Given the description of an element on the screen output the (x, y) to click on. 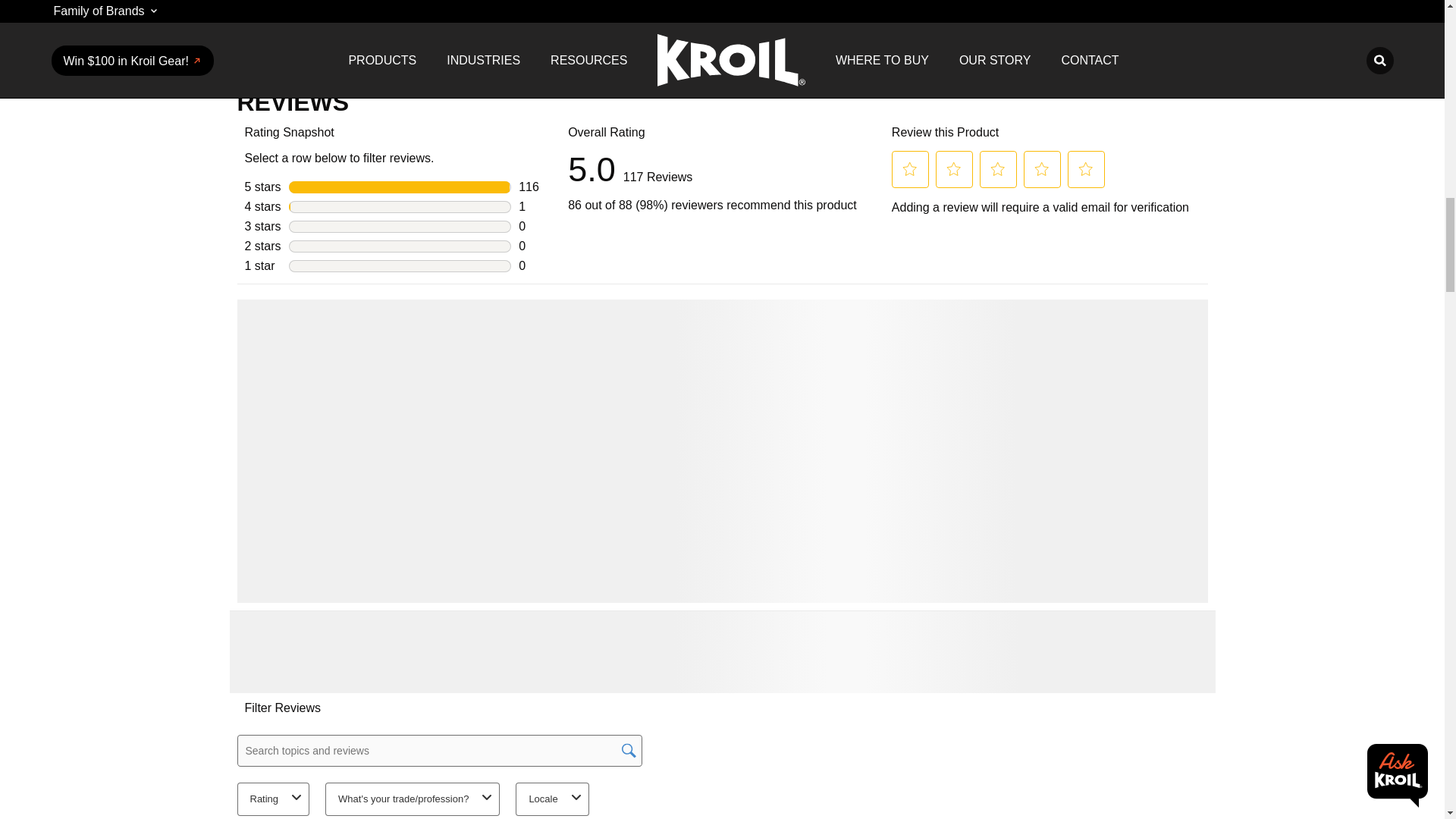
Read 117 Reviews (658, 169)
